Given the description of an element on the screen output the (x, y) to click on. 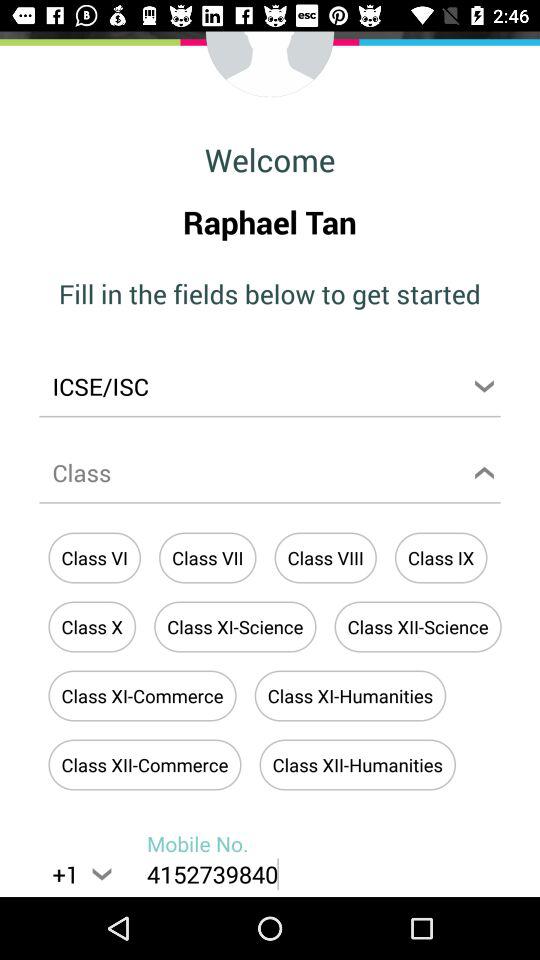
go back (269, 65)
